Given the description of an element on the screen output the (x, y) to click on. 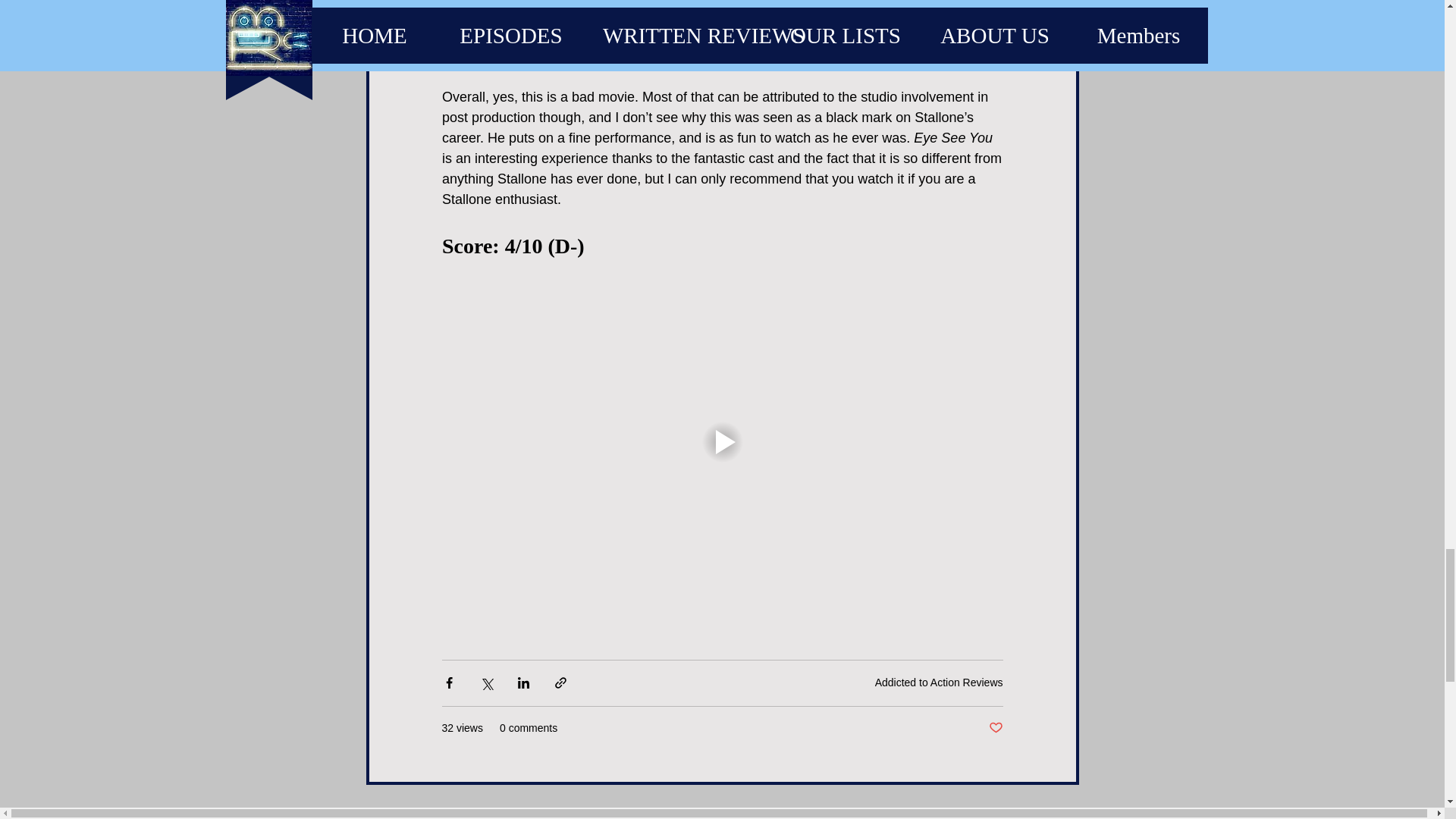
Addicted to Action Reviews (939, 682)
Post not marked as liked (995, 728)
See All (1061, 810)
